Given the description of an element on the screen output the (x, y) to click on. 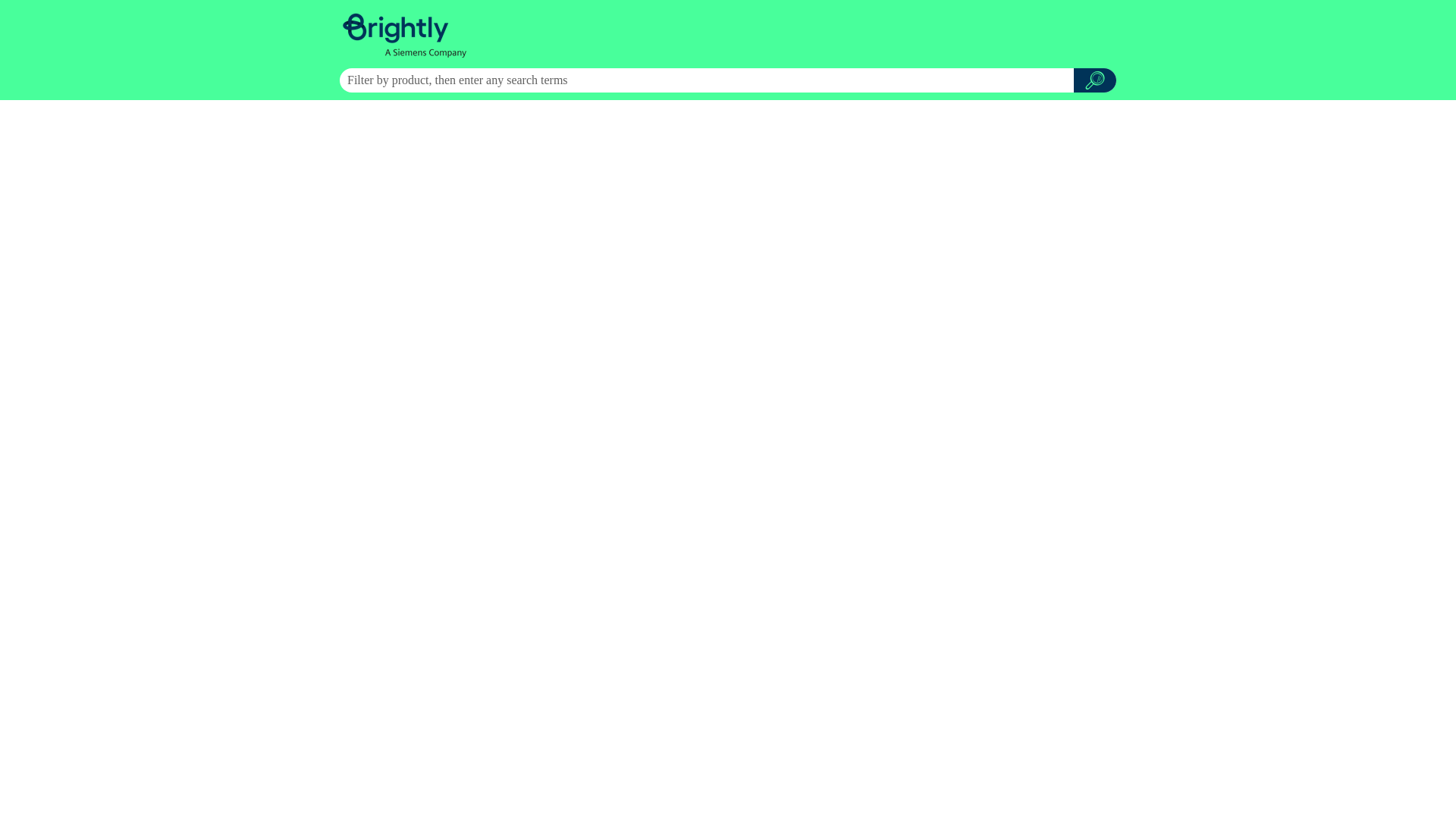
Search (1095, 79)
